Given the description of an element on the screen output the (x, y) to click on. 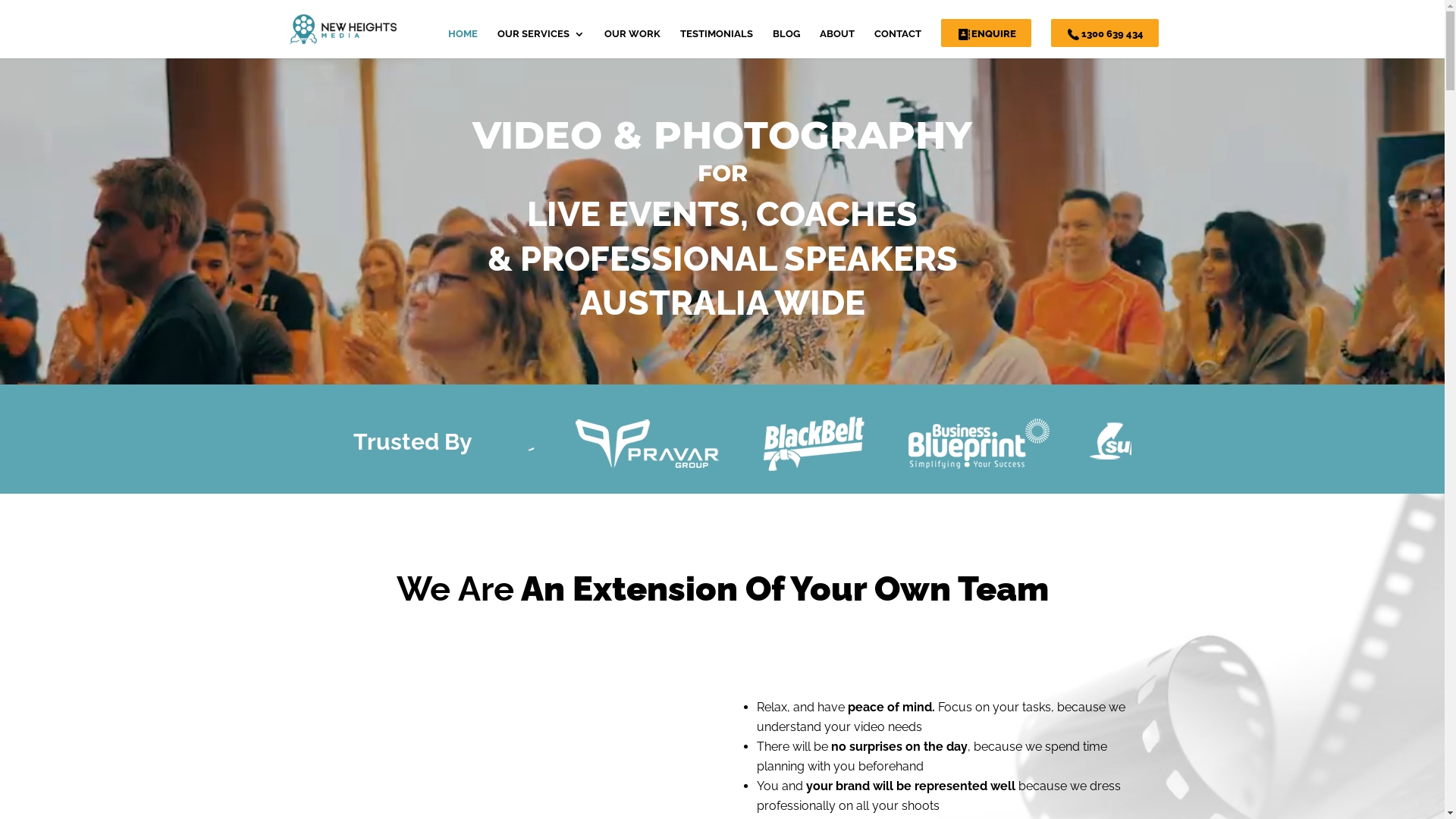
HOME Element type: text (461, 43)
TESTIMONIALS Element type: text (715, 43)
BLOG Element type: text (785, 43)
ENQUIRE Element type: text (985, 32)
ABOUT Element type: text (836, 43)
1300 639 434 Element type: text (1104, 32)
OUR WORK Element type: text (631, 43)
CONTACT Element type: text (896, 43)
OUR SERVICES Element type: text (540, 43)
